Given the description of an element on the screen output the (x, y) to click on. 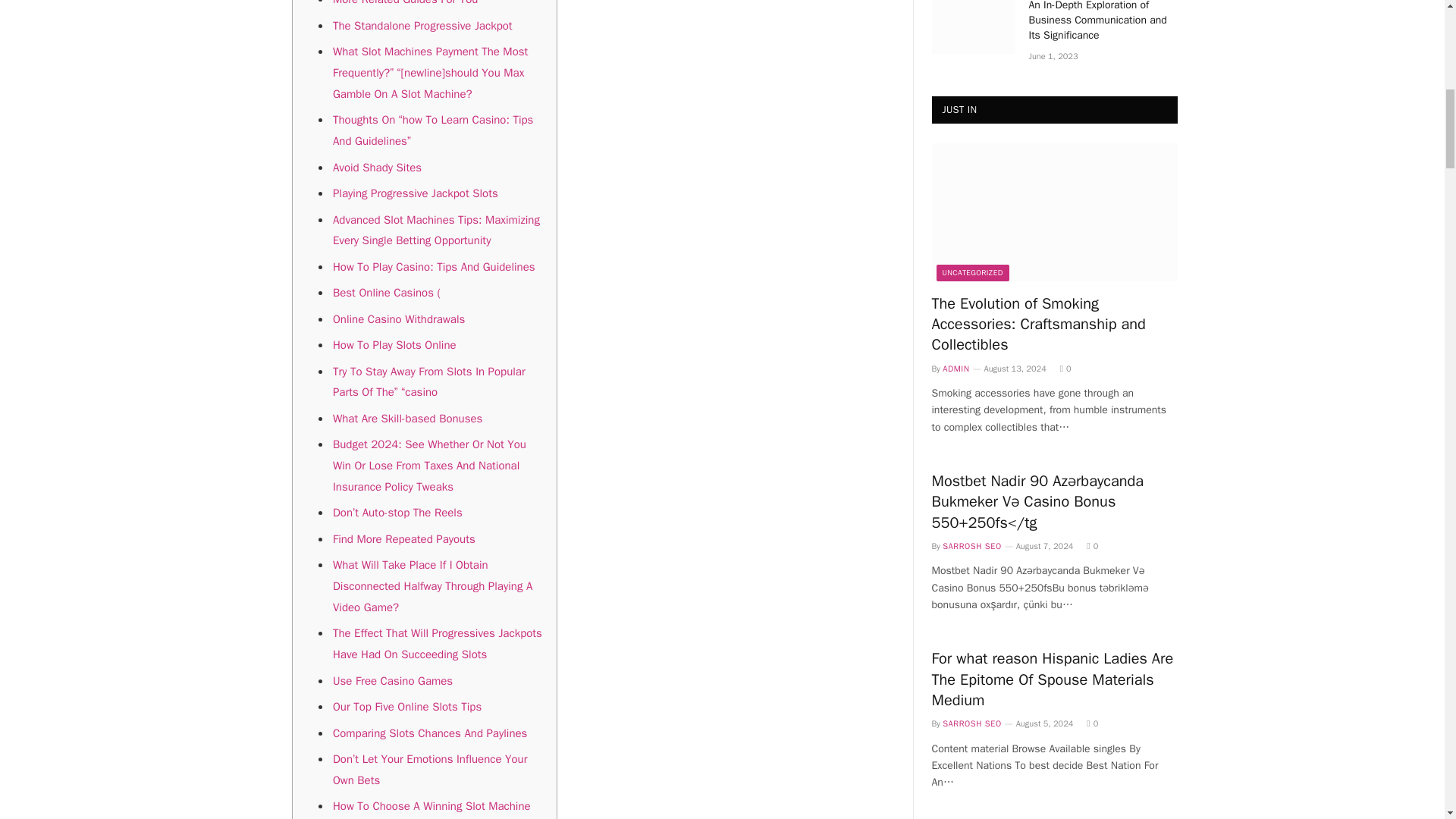
Posts by admin (955, 368)
Posts by Sarrosh Seo (971, 545)
Posts by Sarrosh Seo (971, 723)
More Related Guides For You (405, 2)
The Standalone Progressive Jackpot (422, 25)
